Given the description of an element on the screen output the (x, y) to click on. 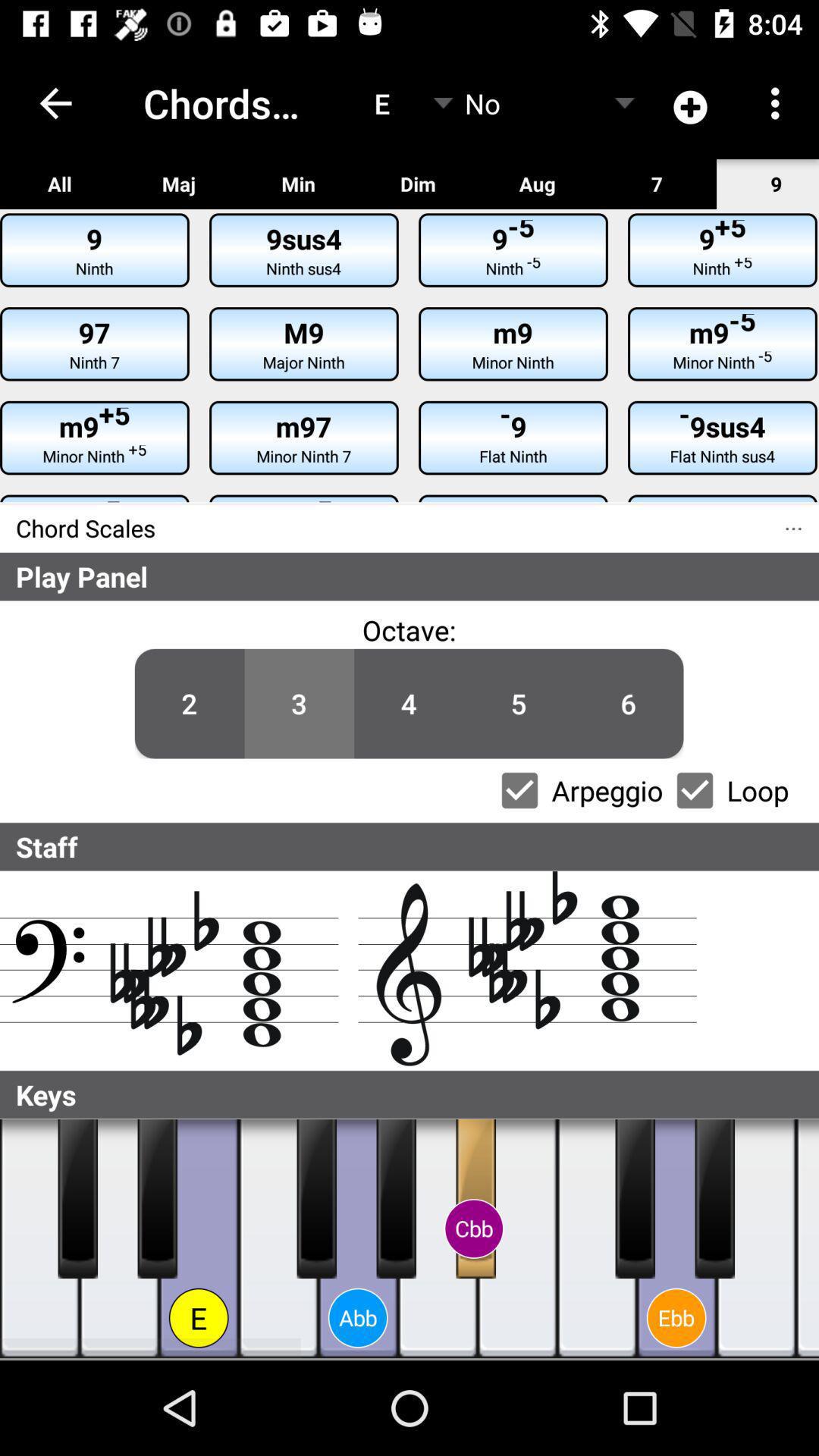
play another note (807, 1238)
